Given the description of an element on the screen output the (x, y) to click on. 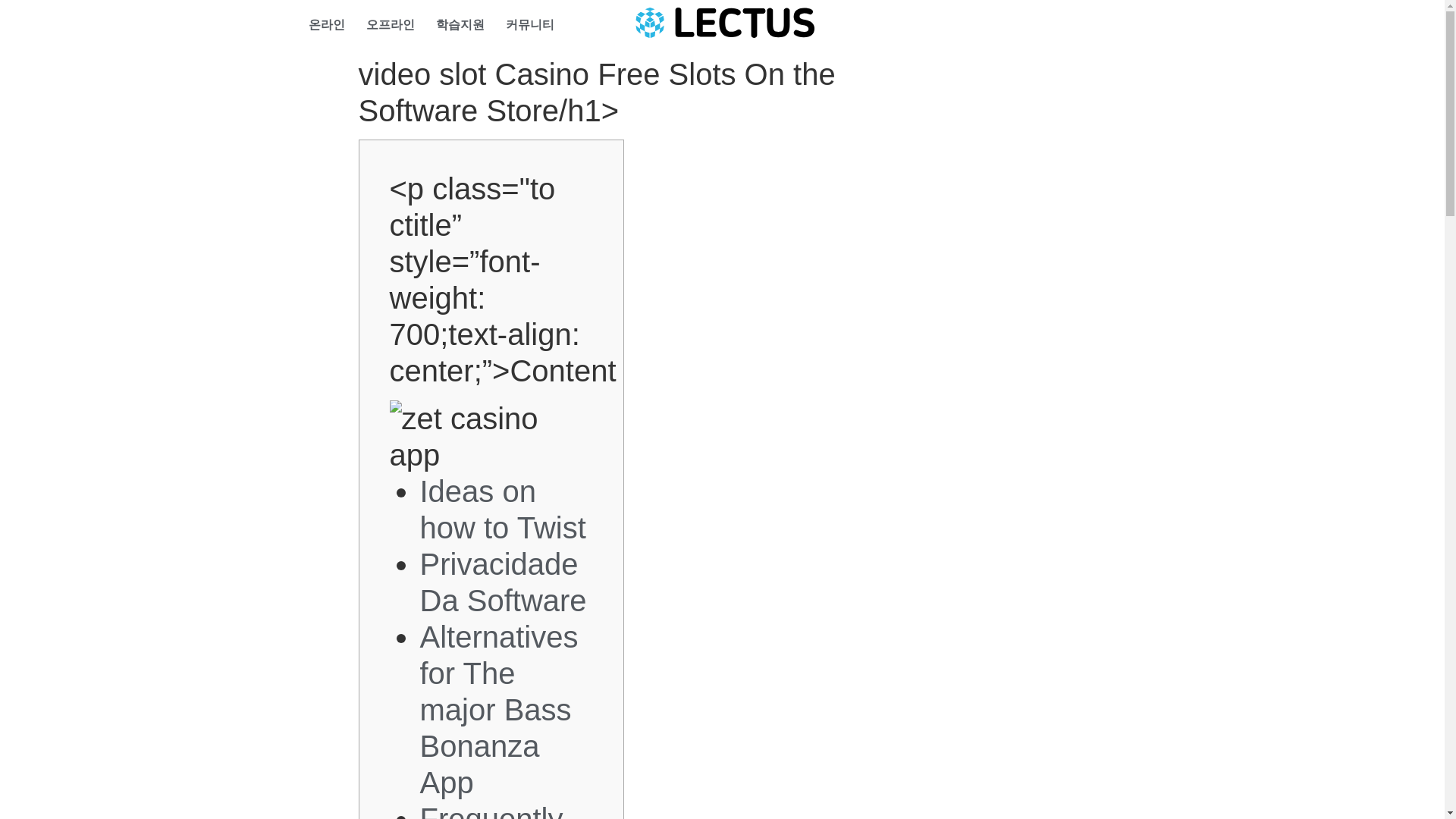
Privacidade Da Software (503, 582)
Ideas on how to Twist (503, 509)
Frequently asked questions In the Sweet Bonanza (501, 810)
Alternatives for The major Bass Bonanza App (499, 709)
